Given the description of an element on the screen output the (x, y) to click on. 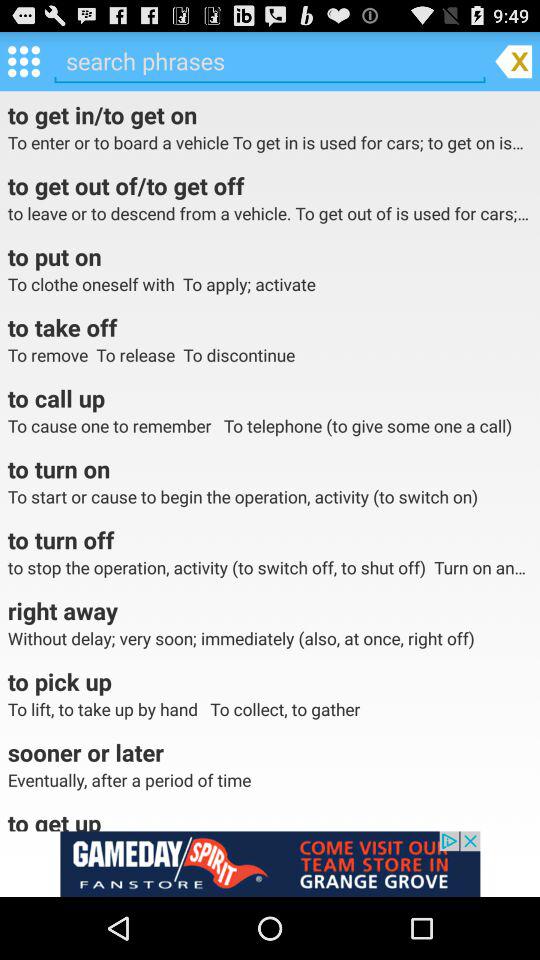
connect to advertisement (270, 864)
